Given the description of an element on the screen output the (x, y) to click on. 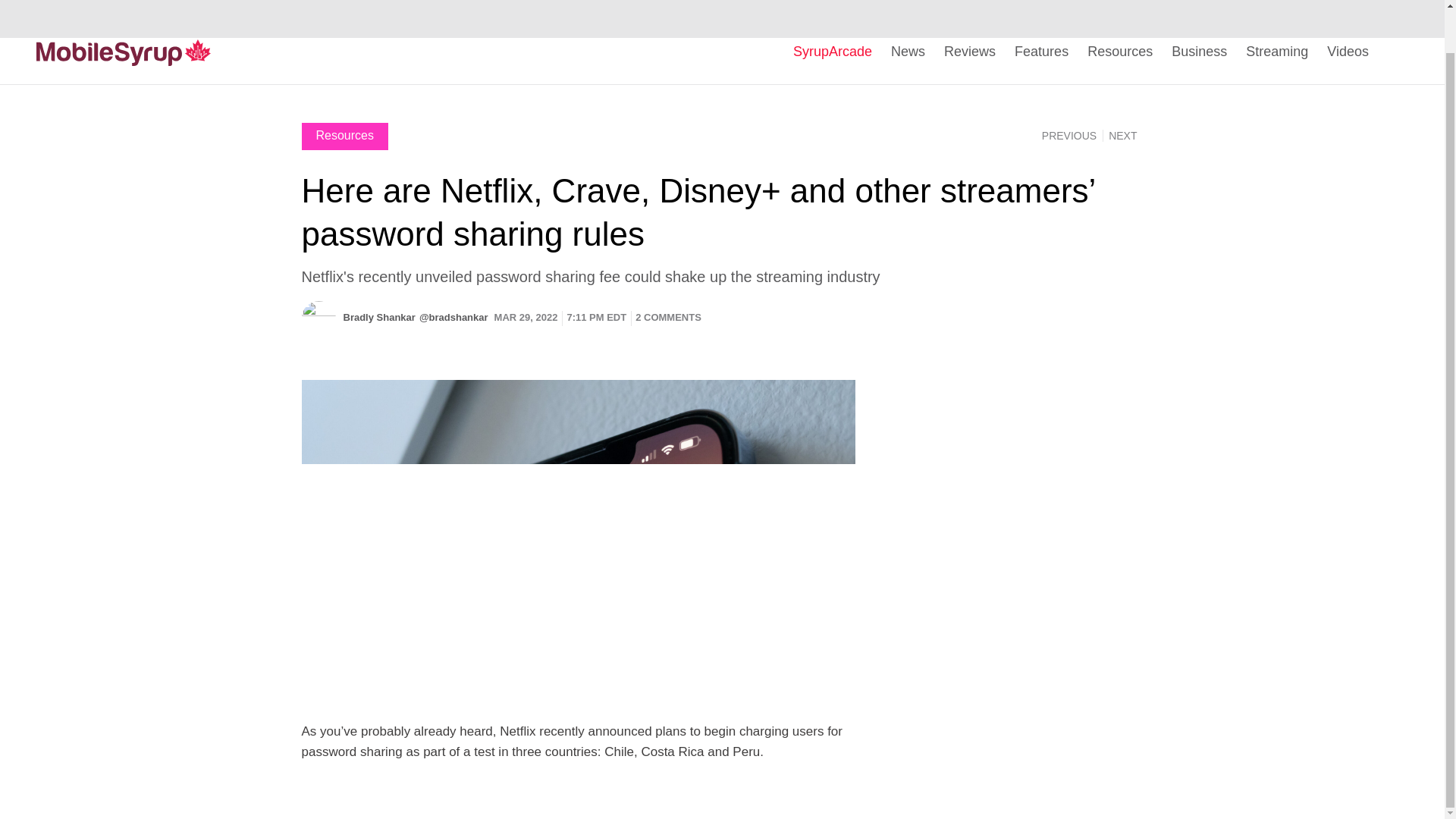
CONTACT US (1032, 4)
NEWSLETTER (1229, 4)
SyrupArcade (832, 52)
CONTESTS (1163, 4)
SYRUPCAST (1099, 4)
